Given the description of an element on the screen output the (x, y) to click on. 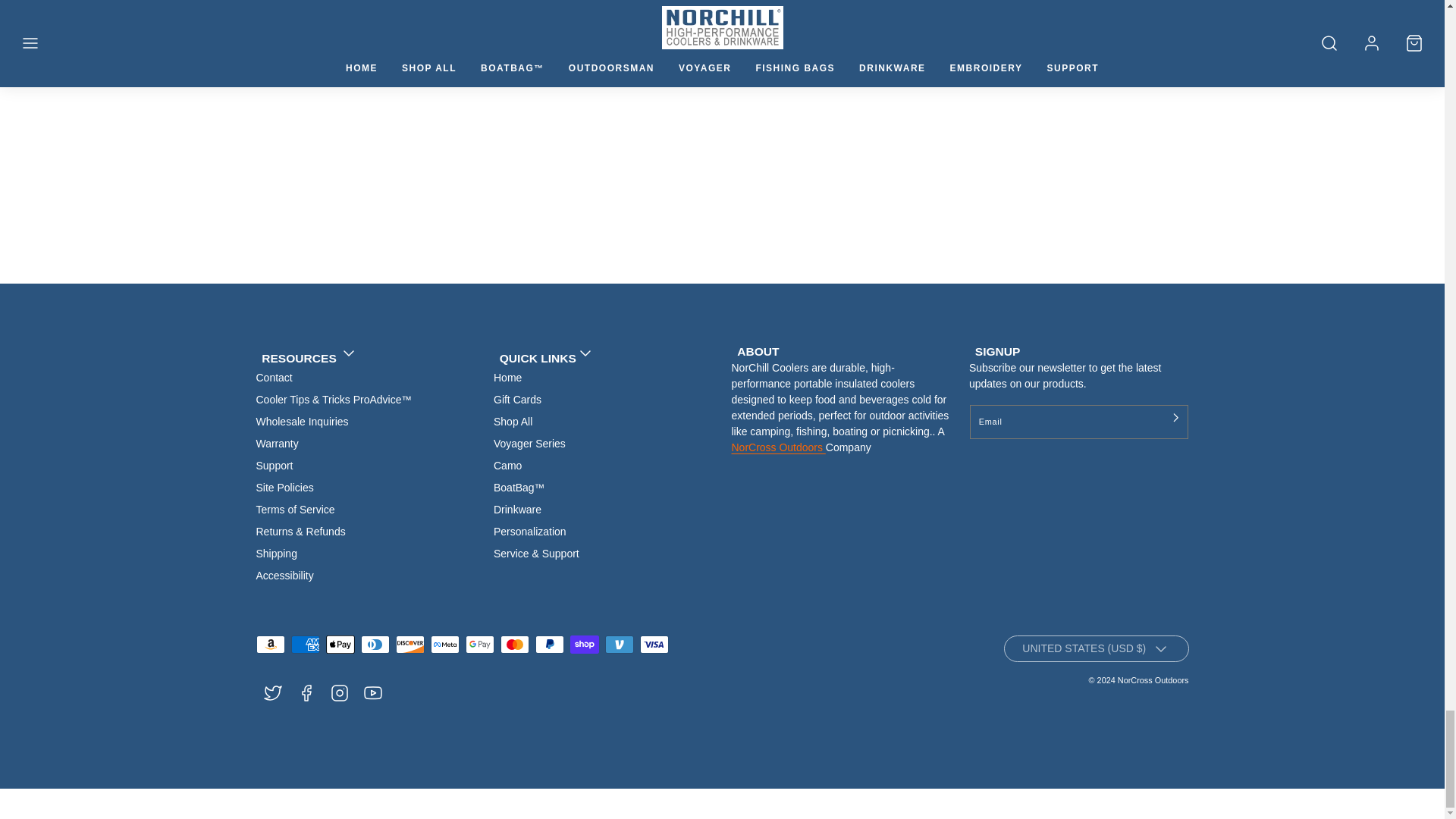
Meta Pay (445, 644)
Amazon (270, 644)
Diners Club (375, 644)
Google Pay (480, 644)
Apple Pay (340, 644)
American Express (305, 644)
Discover (410, 644)
Mastercard (514, 644)
